Given the description of an element on the screen output the (x, y) to click on. 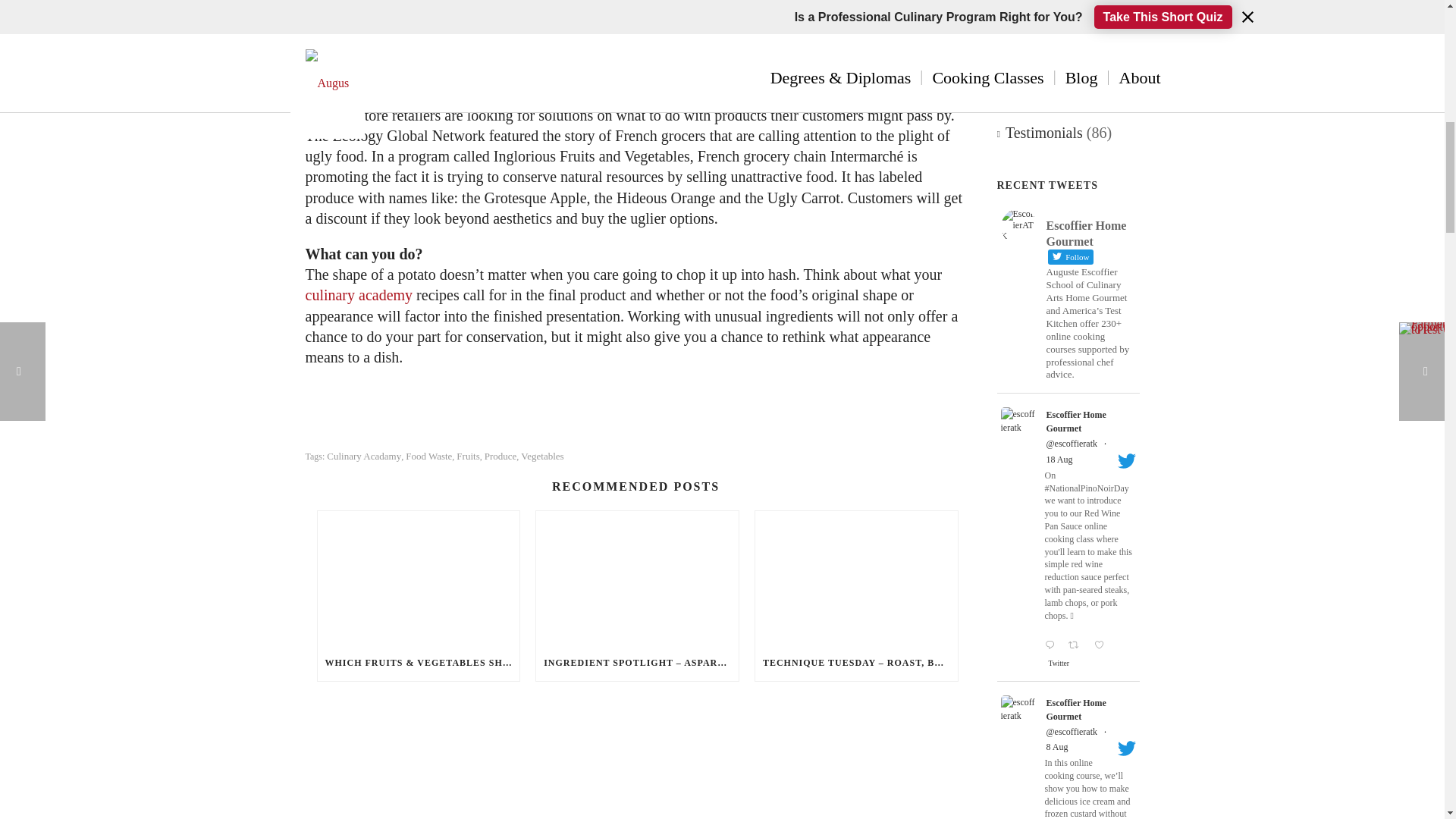
culinary academy (358, 294)
Fruits (468, 456)
Produce (500, 456)
Food Waste (428, 456)
Culinary Acadamy (363, 456)
Vegetables (542, 456)
now partnering with juice companies (538, 79)
